Given the description of an element on the screen output the (x, y) to click on. 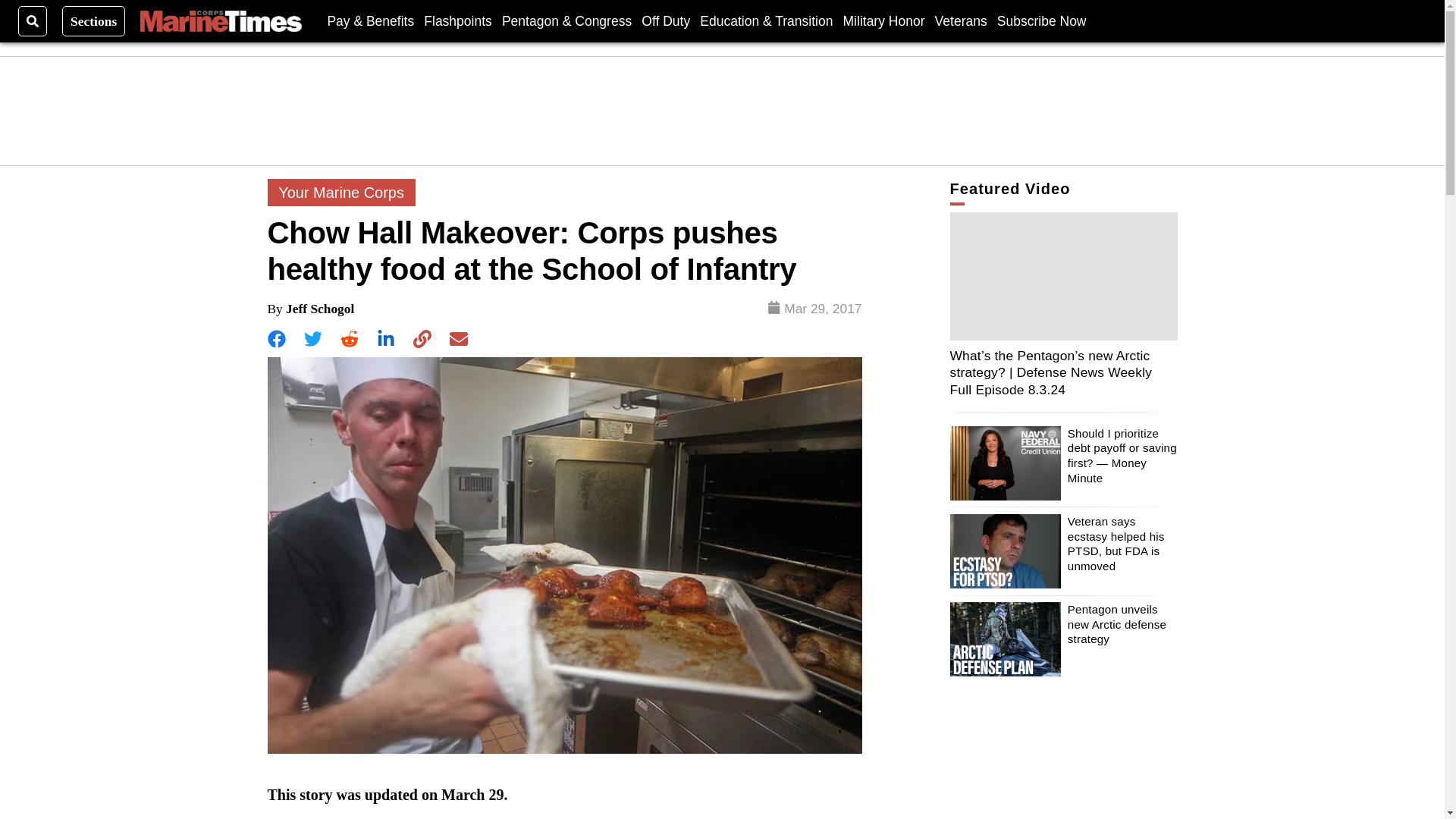
Off Duty (666, 20)
Military Honor (883, 20)
Veterans (960, 20)
Marine Corps Times Logo (220, 20)
Flashpoints (457, 20)
Sections (93, 20)
